Given the description of an element on the screen output the (x, y) to click on. 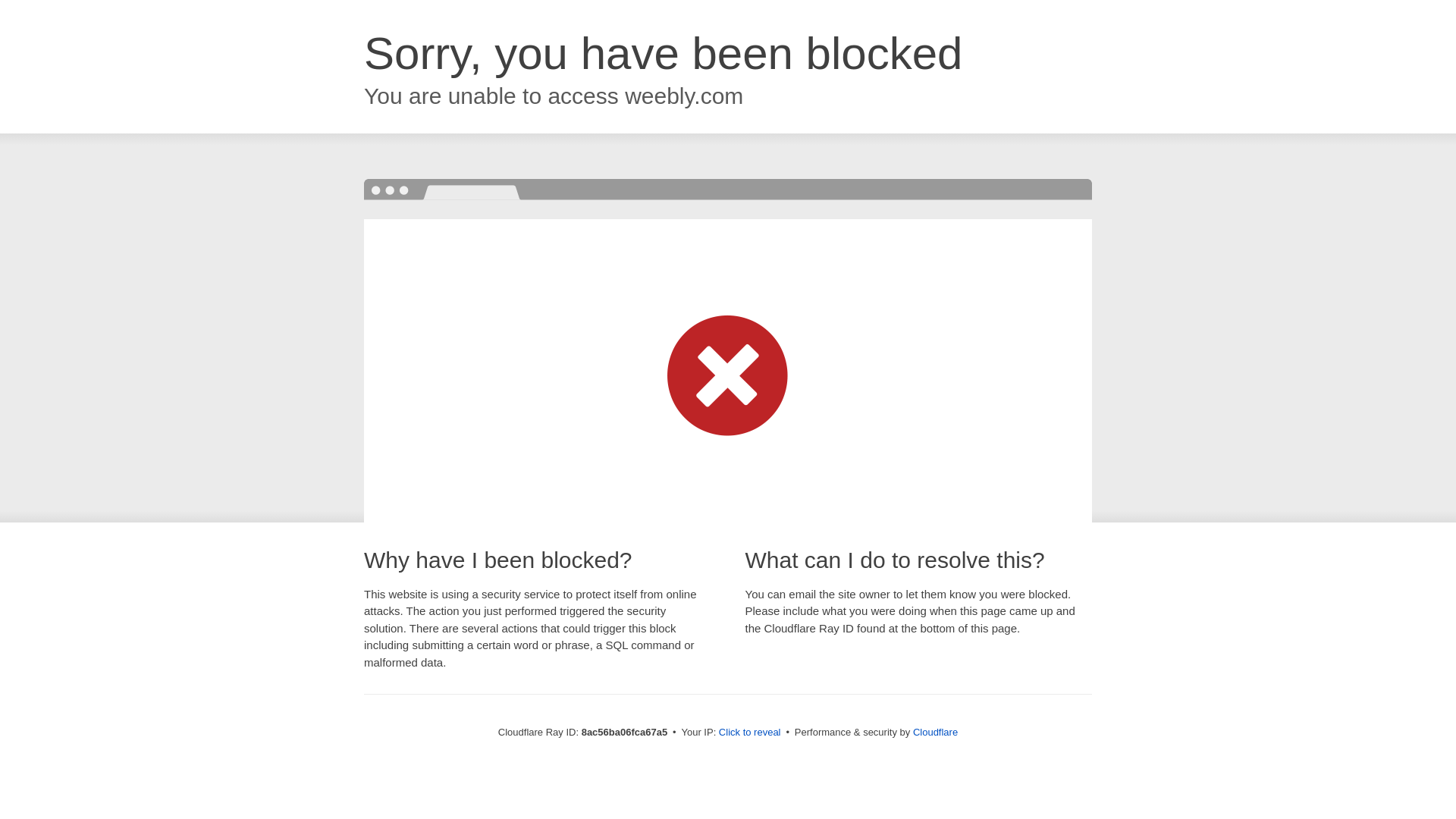
Cloudflare (935, 731)
Click to reveal (749, 732)
